Given the description of an element on the screen output the (x, y) to click on. 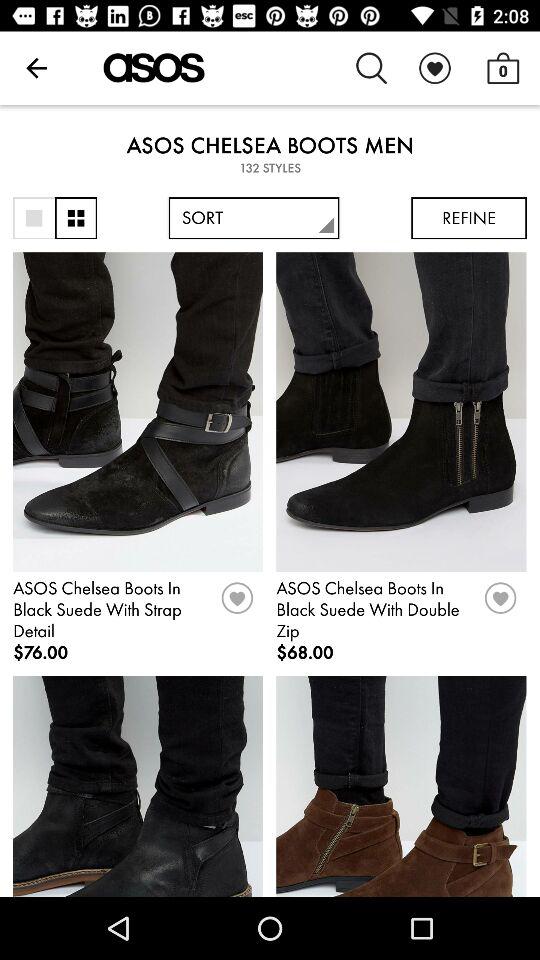
like item (237, 605)
